Given the description of an element on the screen output the (x, y) to click on. 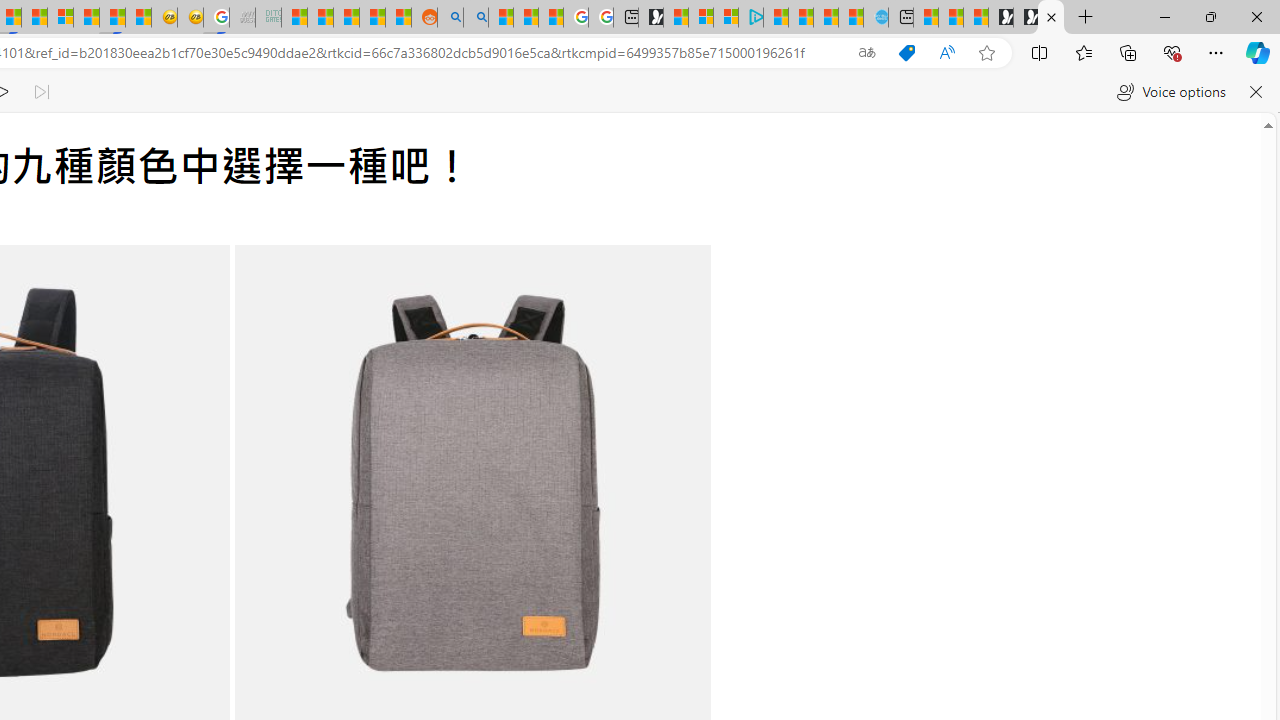
Class: flickity-button-icon (658, 502)
14 Common Myths Debunked By Scientific Facts (34, 17)
Home | Sky Blue Bikes - Sky Blue Bikes (876, 17)
